Given the description of an element on the screen output the (x, y) to click on. 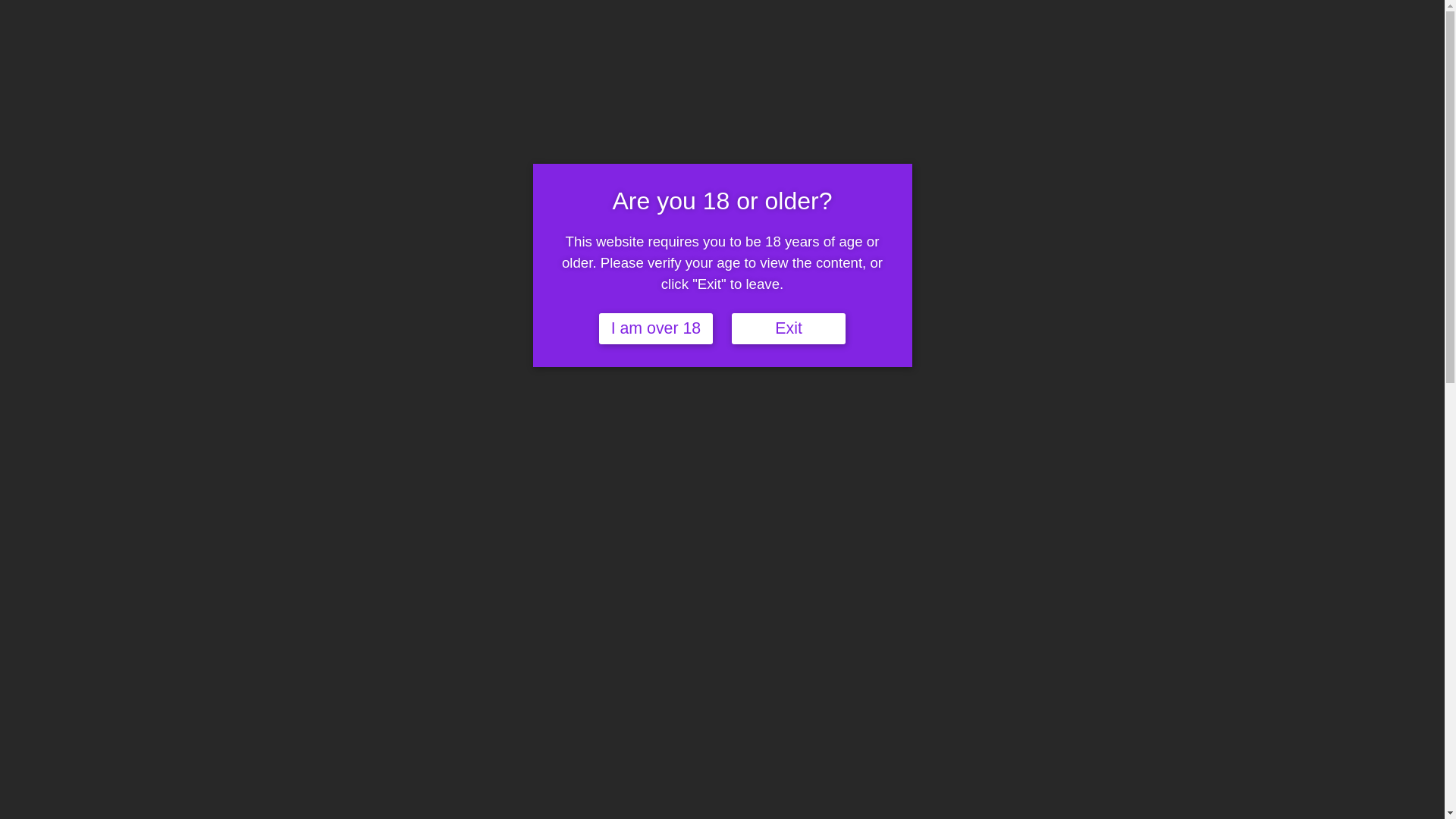
Go Back Element type: text (441, 152)
FAQ Element type: text (1261, 17)
I am over 18 Element type: text (655, 328)
Exit Element type: text (788, 328)
EMPLOYMENT Element type: text (1320, 17)
SEARCH Element type: text (754, 32)
OUR LADIES Element type: text (1102, 17)
PRICES Element type: text (1220, 17)
ROSTER Element type: text (1167, 17)
HOME Element type: text (1043, 17)
CONTACT Element type: text (1393, 17)
